Given the description of an element on the screen output the (x, y) to click on. 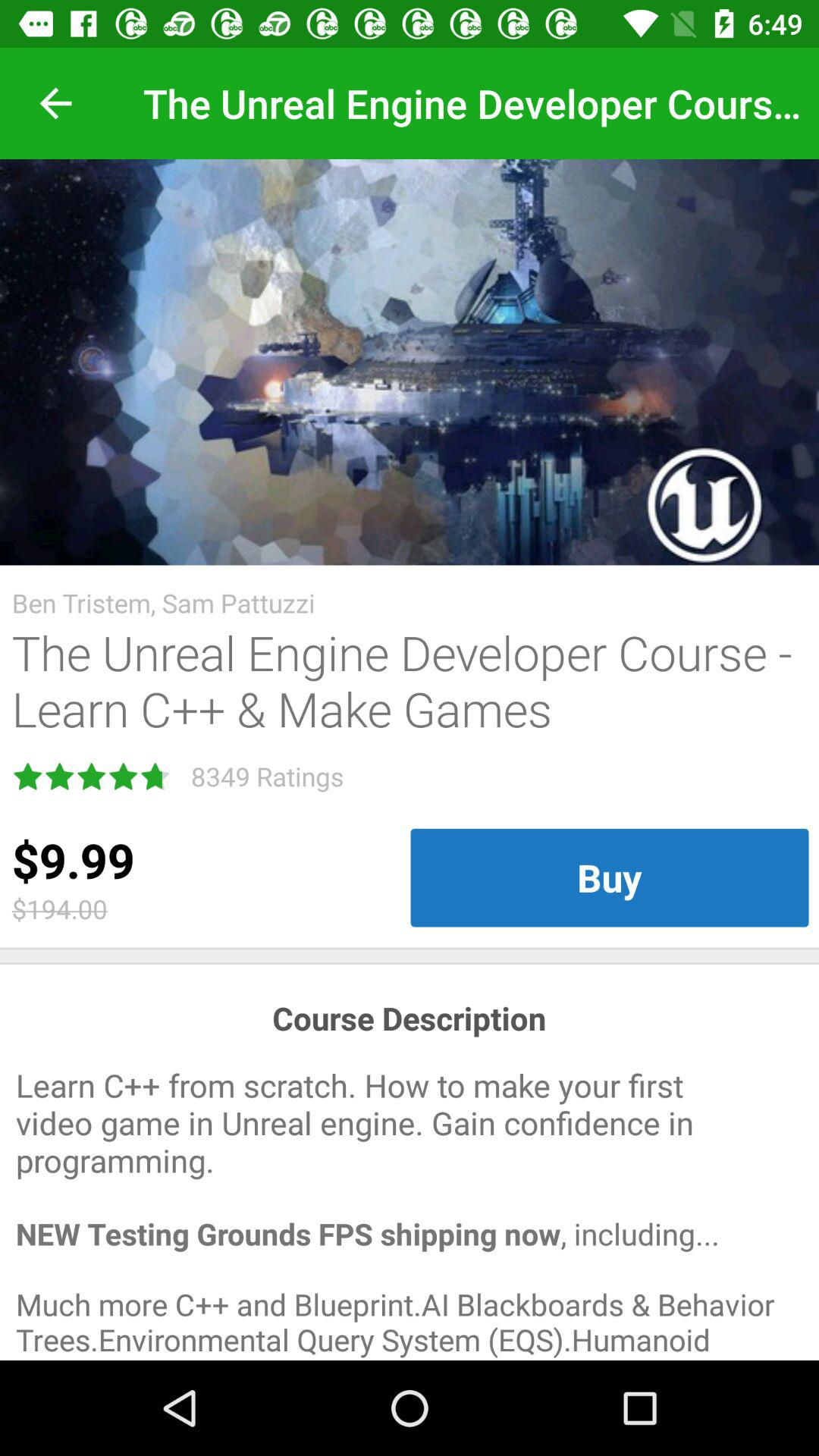
jump to the buy (609, 877)
